Given the description of an element on the screen output the (x, y) to click on. 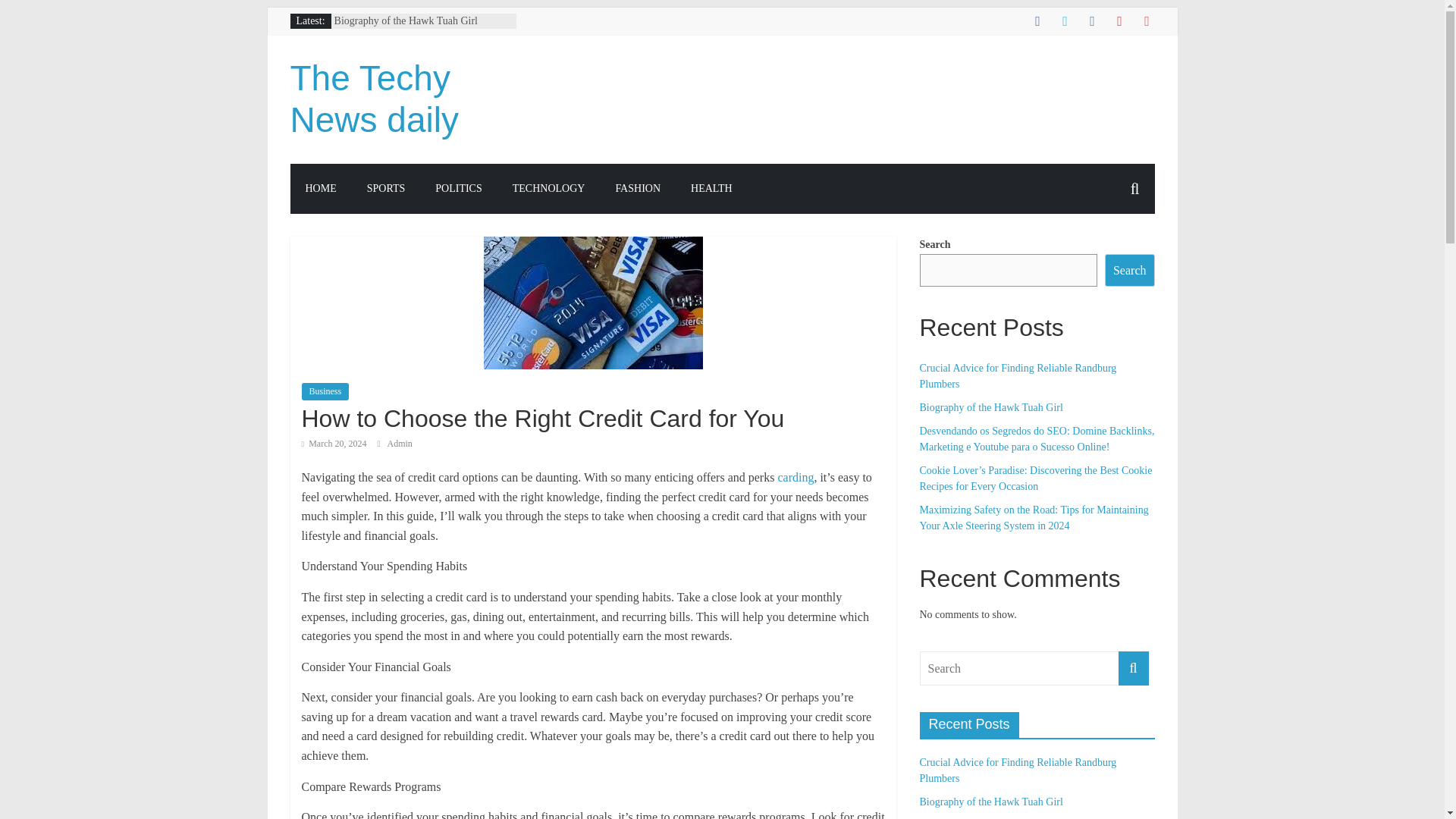
Admin (399, 443)
The Techy News daily (373, 98)
The Techy News daily (373, 98)
TECHNOLOGY (548, 188)
POLITICS (458, 188)
FASHION (637, 188)
carding (795, 477)
Admin (399, 443)
Search (1129, 270)
HOME (319, 188)
Biography of the Hawk Tuah Girl (405, 20)
Biography of the Hawk Tuah Girl (990, 407)
Business (325, 391)
